Given the description of an element on the screen output the (x, y) to click on. 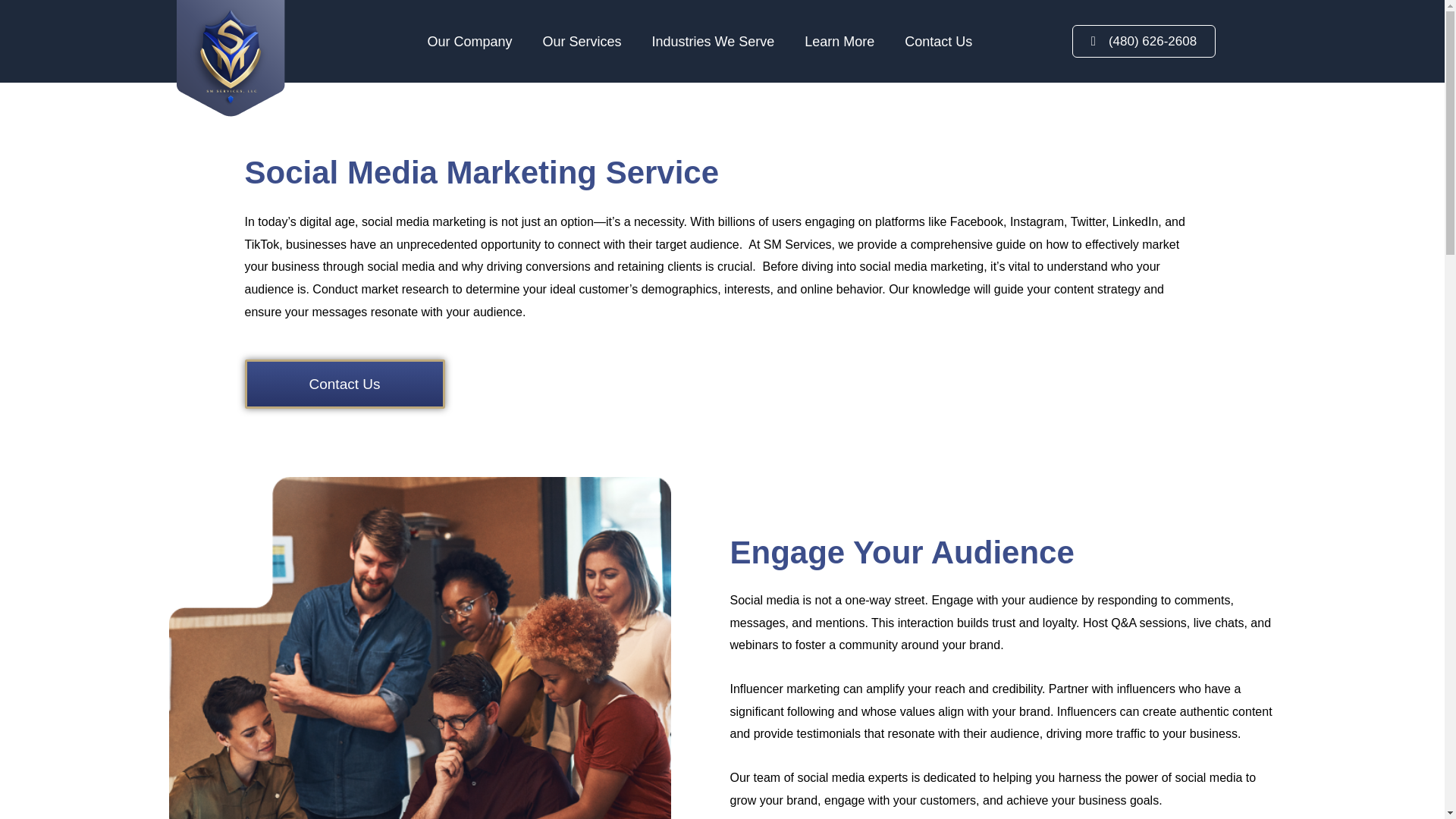
Learn More (843, 40)
Contact Us (938, 40)
About SM Services (472, 40)
Our Services (585, 40)
Learn More About the SM Services (843, 40)
Our Company (472, 40)
Industries We Serve (716, 40)
